Given the description of an element on the screen output the (x, y) to click on. 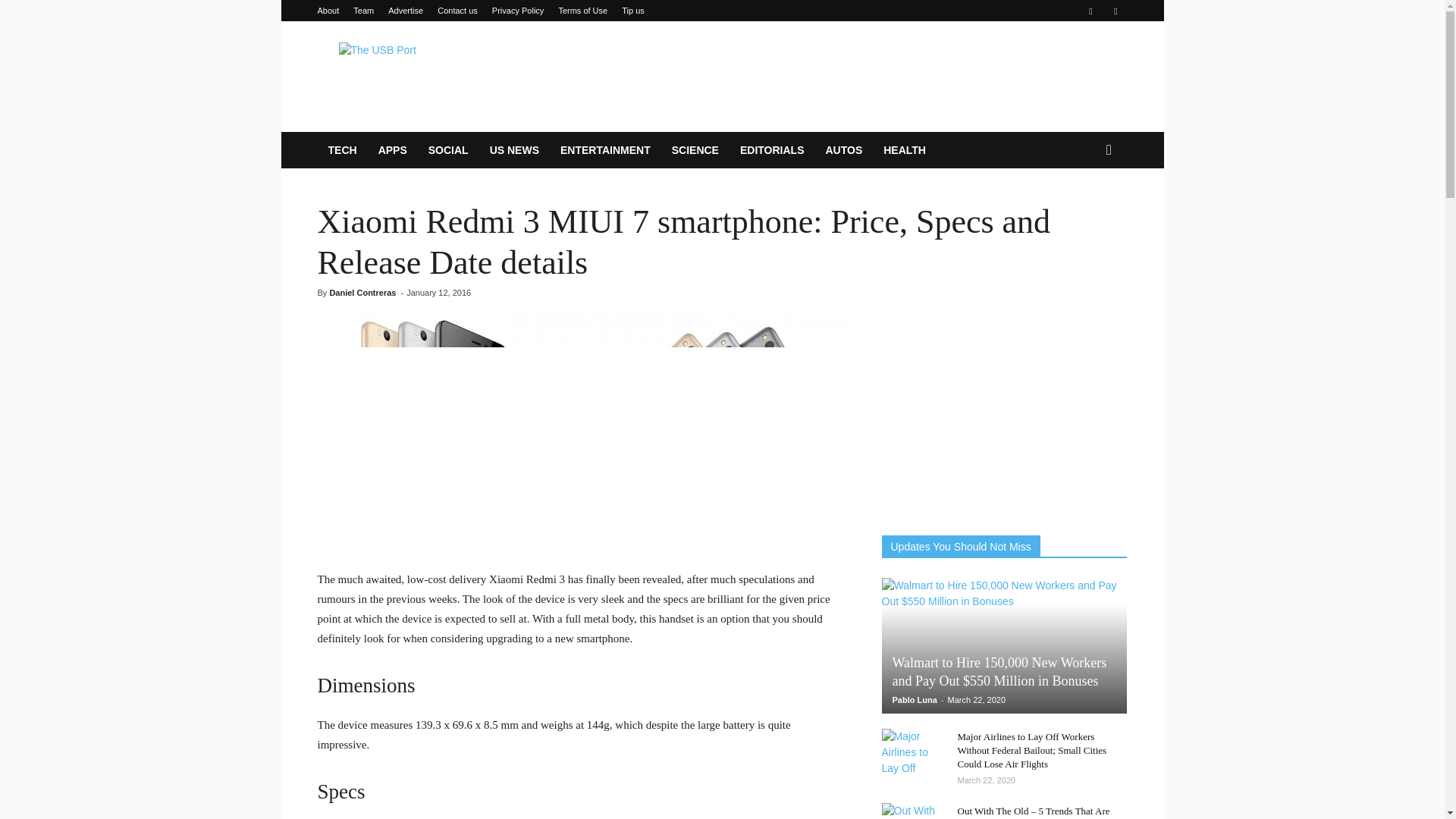
AUTOS (842, 149)
SOCIAL (448, 149)
Tip us (633, 10)
Privacy Policy (517, 10)
Contact us (457, 10)
The USB Port (445, 76)
redmi-3 (580, 430)
HEALTH (904, 149)
ENTERTAINMENT (605, 149)
About (328, 10)
